Given the description of an element on the screen output the (x, y) to click on. 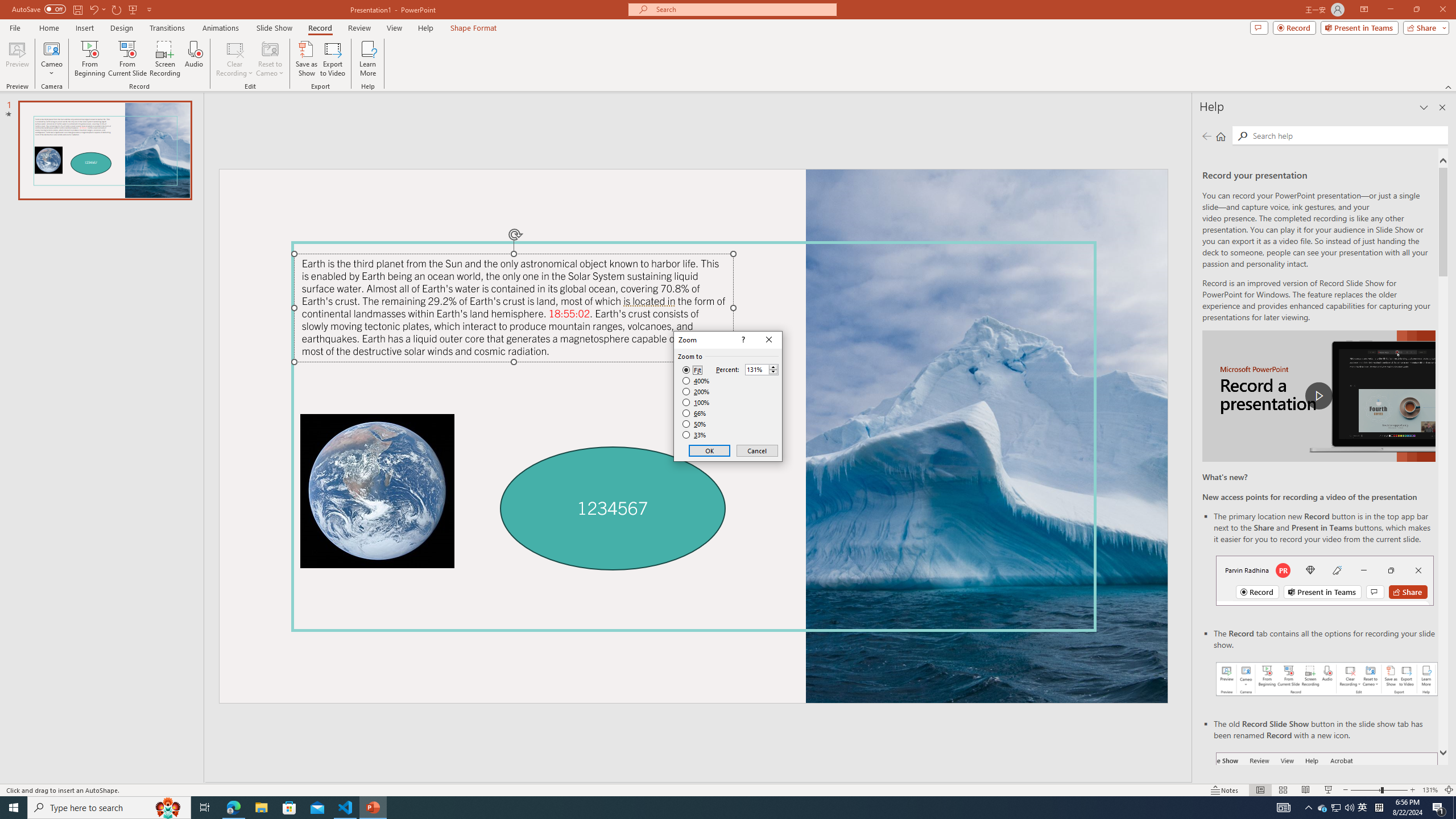
Context help (742, 339)
Previous page (1206, 136)
OK (709, 450)
Record your presentations screenshot one (1326, 678)
100% (696, 402)
Zoom 131% (1430, 790)
400% (696, 380)
